Given the description of an element on the screen output the (x, y) to click on. 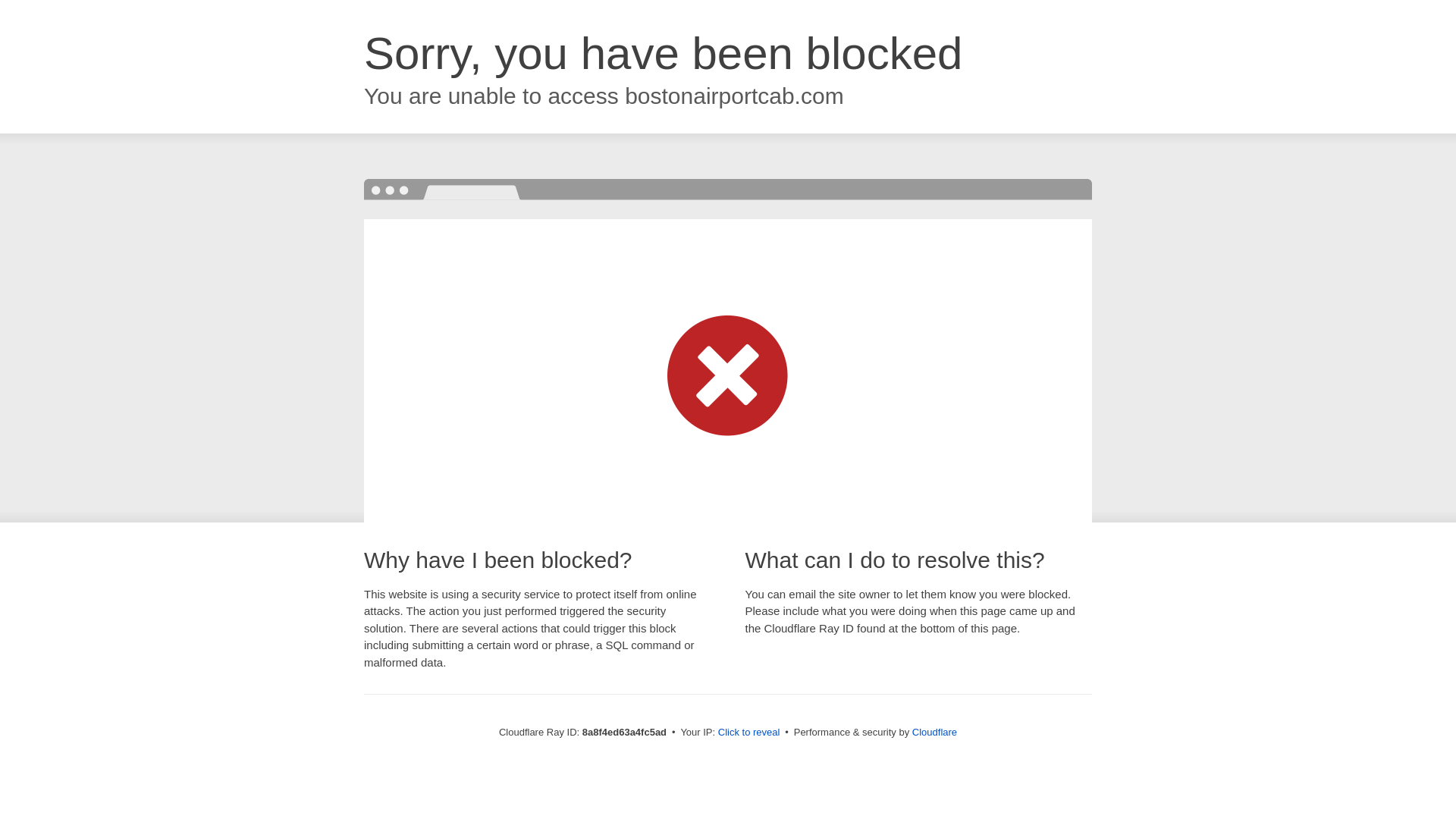
Click to reveal (748, 732)
Cloudflare (934, 731)
